Given the description of an element on the screen output the (x, y) to click on. 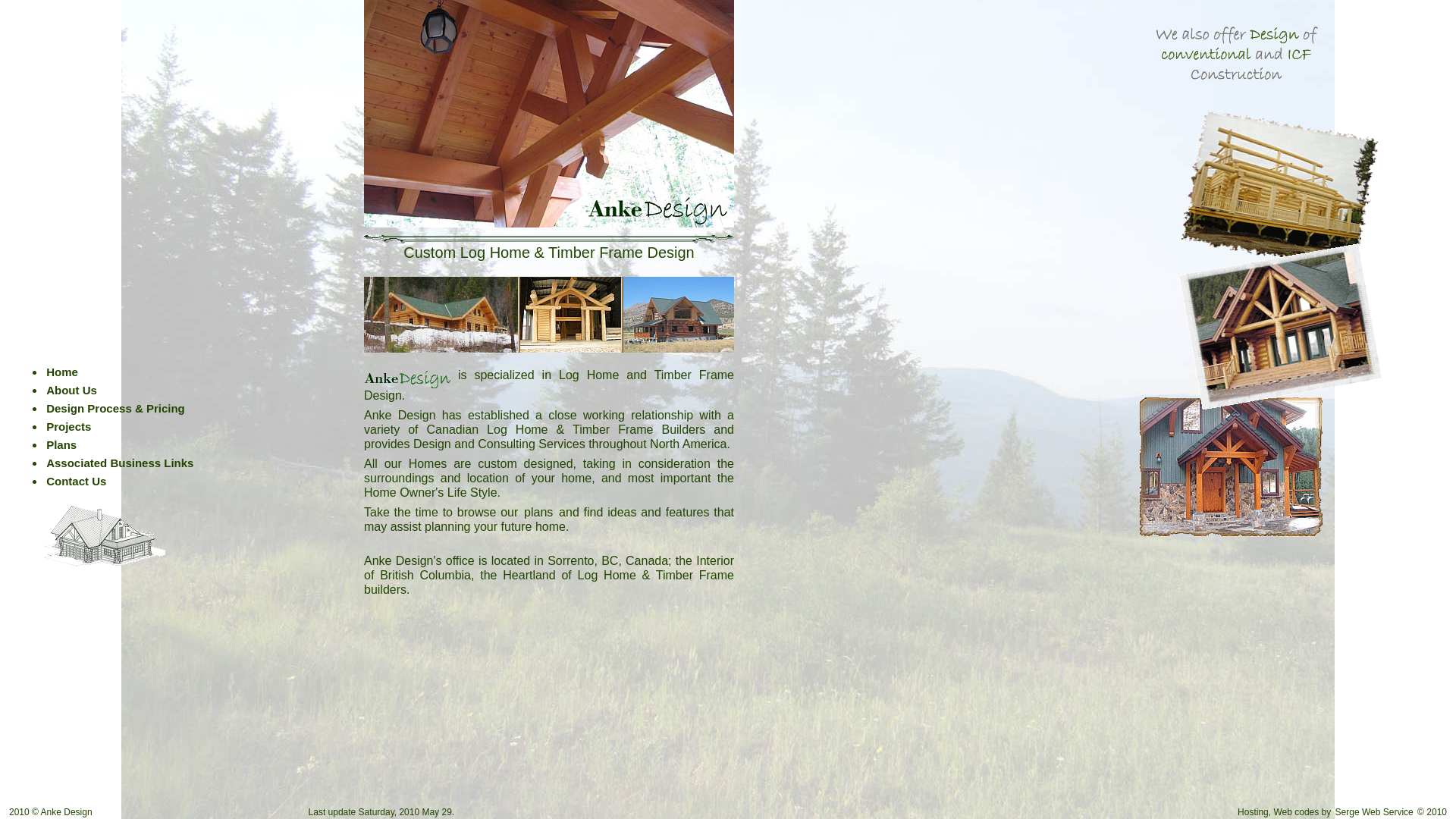
About Us Element type: text (71, 389)
Serge Web Service Element type: text (1374, 811)
Design Process & Pricing Element type: text (115, 407)
Projects Element type: text (68, 426)
plans Element type: text (538, 511)
Home Element type: text (61, 371)
Plans Element type: text (61, 444)
Contact Us Element type: text (75, 480)
Associated Business Links Element type: text (119, 462)
